Given the description of an element on the screen output the (x, y) to click on. 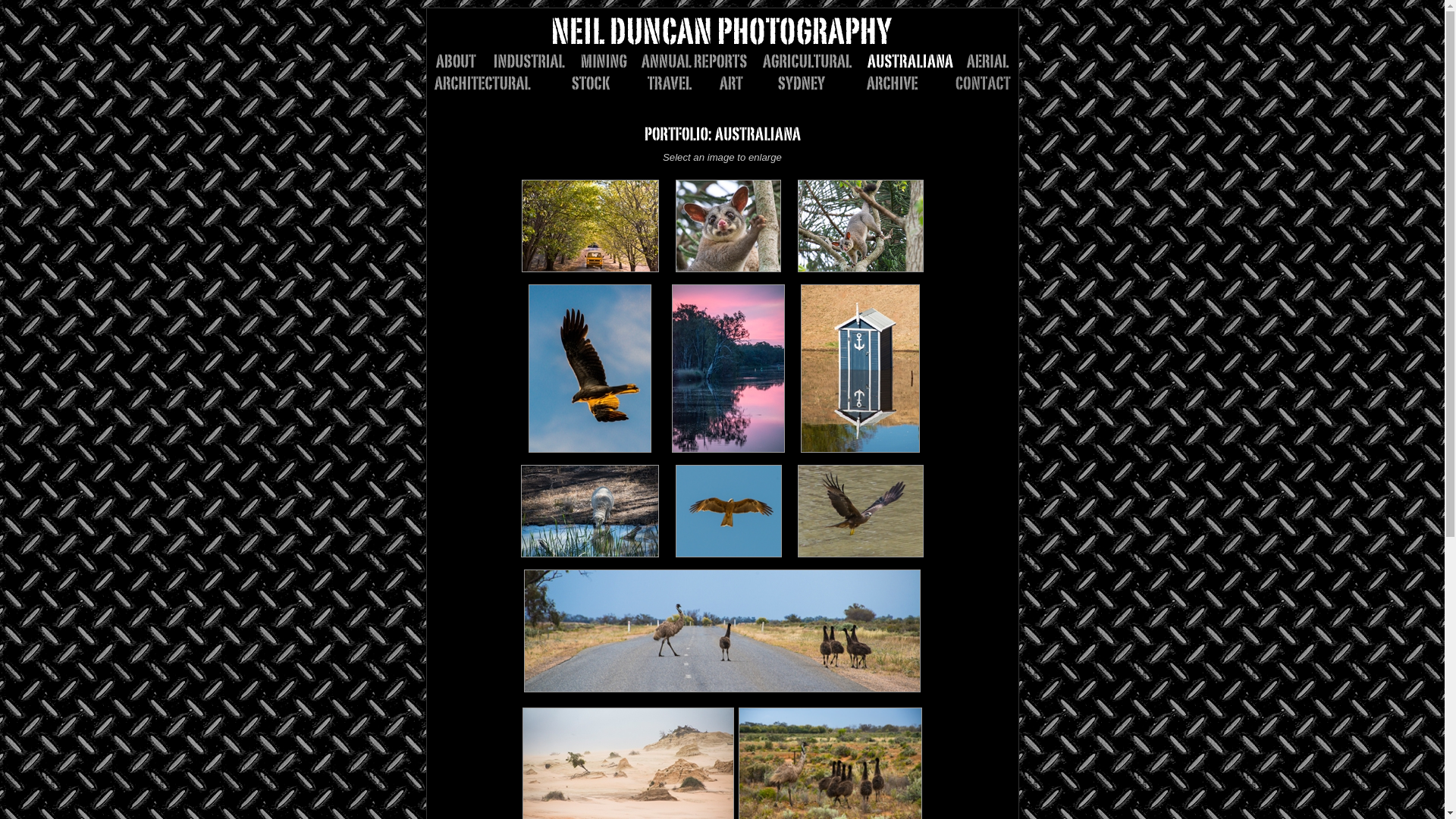
Annual Reports Element type: text (699, 60)
Architectural Element type: text (489, 82)
Australiana Element type: text (915, 60)
Travel Element type: text (671, 82)
Agricultural Element type: text (812, 60)
About Element type: text (461, 60)
Stock Element type: text (585, 82)
Industrial Element type: text (534, 60)
NEIL DUNCAN PHOTOGRAPHY Element type: text (722, 30)
Aerial Element type: text (986, 60)
Art Element type: text (735, 82)
Archive Element type: text (885, 82)
Contact Element type: text (970, 82)
Mining Element type: text (607, 60)
Sydney Element type: text (796, 82)
